Given the description of an element on the screen output the (x, y) to click on. 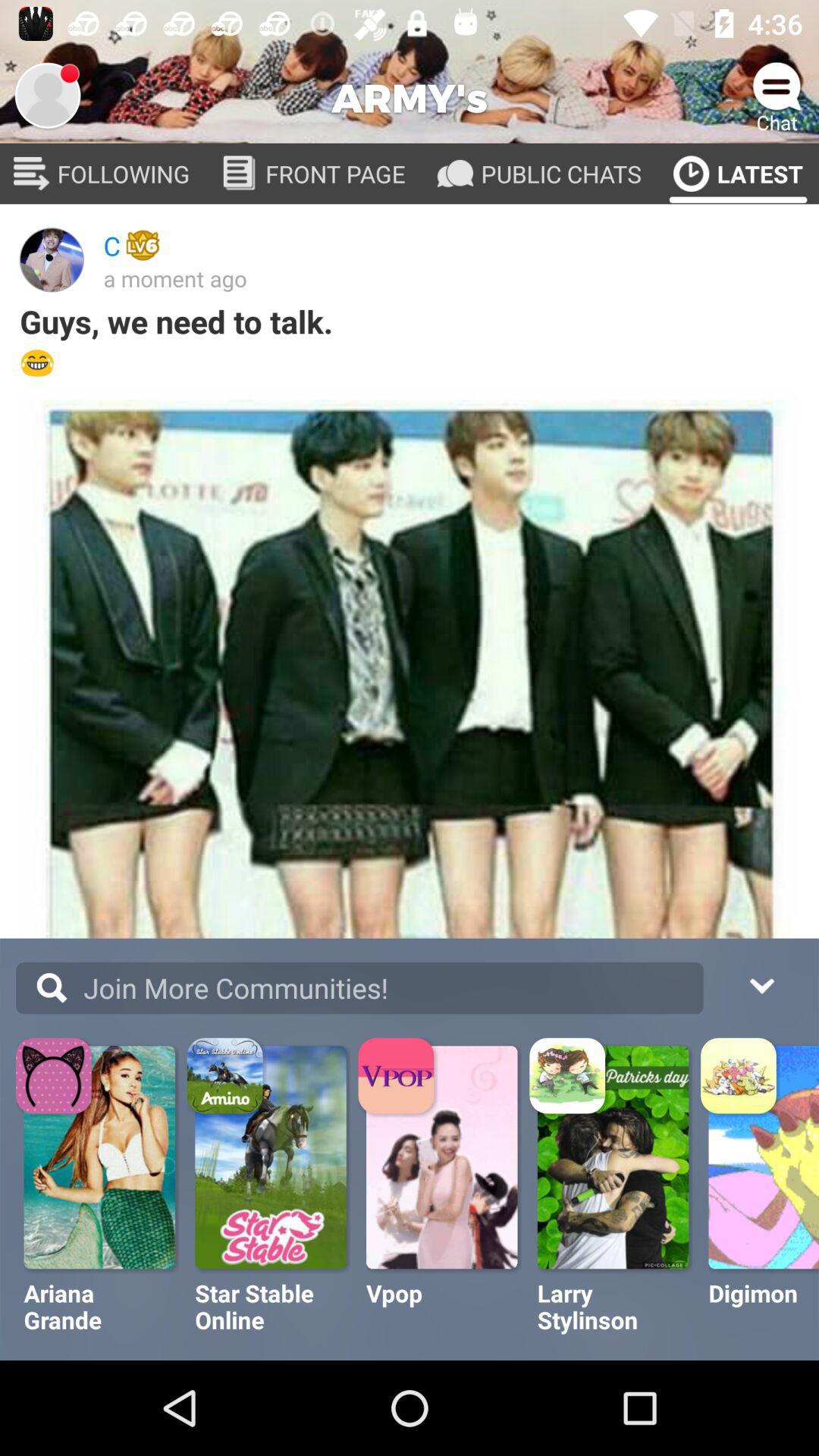
go to the chat icon which is just above the chat (777, 87)
click on the chat icon which is left to the public chats (455, 173)
click on the option that looks like a head band in the bottom left (55, 1078)
select the text more (185, 999)
select the text more (185, 999)
select the horse picture (272, 1157)
click on digimon picture (764, 1157)
click on digimon picture (751, 1248)
click on the vpop icon (398, 1078)
select the v pop picture (443, 1157)
click on the public chats icon (455, 173)
click on the image under following (51, 260)
click on the big image that is shown (409, 673)
select the pink picture from the bottom (443, 1157)
